Given the description of an element on the screen output the (x, y) to click on. 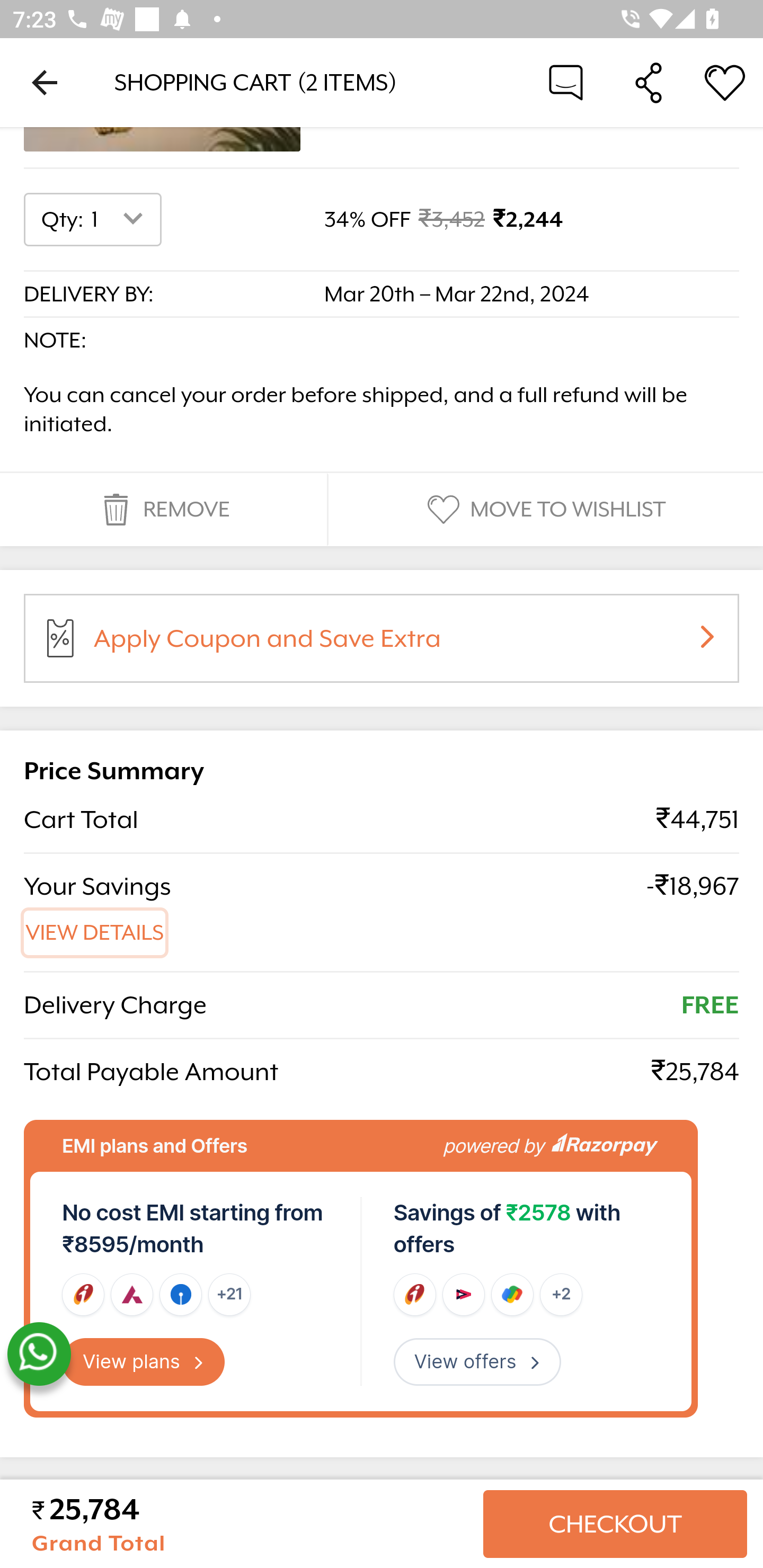
Navigate up (44, 82)
Chat (565, 81)
Share Cart (648, 81)
Wishlist (724, 81)
1 (121, 220)
REMOVE (163, 509)
MOVE TO WISHLIST (544, 509)
Apply Coupon and Save Extra (402, 644)
VIEW DETAILS (95, 933)
whatsapp (38, 1354)
View plans (143, 1362)
View offers (476, 1362)
₹ 25,784 Grand Total (250, 1523)
CHECKOUT (614, 1523)
